Given the description of an element on the screen output the (x, y) to click on. 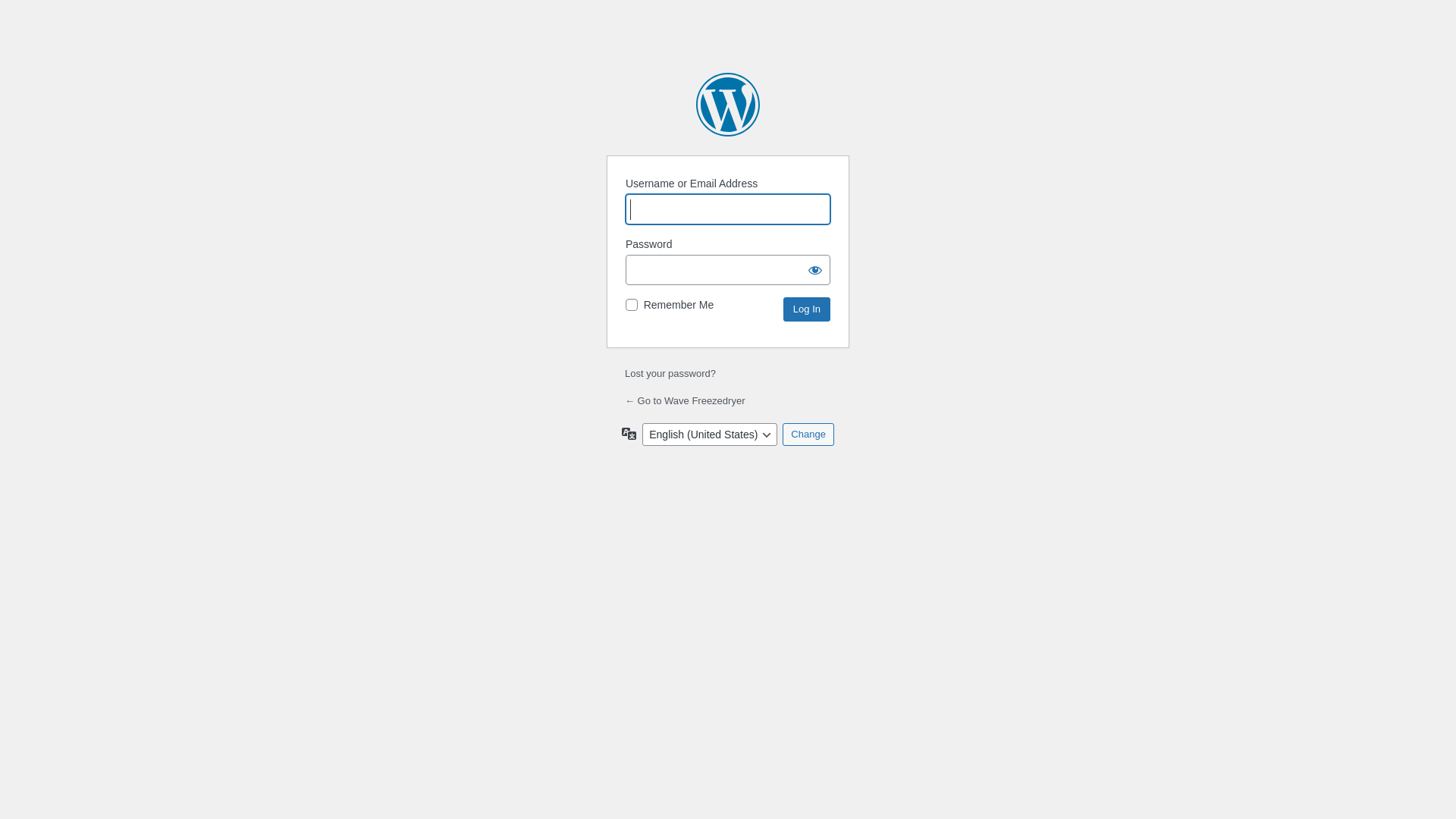
Lost your password? Element type: text (669, 373)
Change Element type: text (808, 434)
Log In Element type: text (806, 309)
Powered by WordPress Element type: text (727, 104)
